Given the description of an element on the screen output the (x, y) to click on. 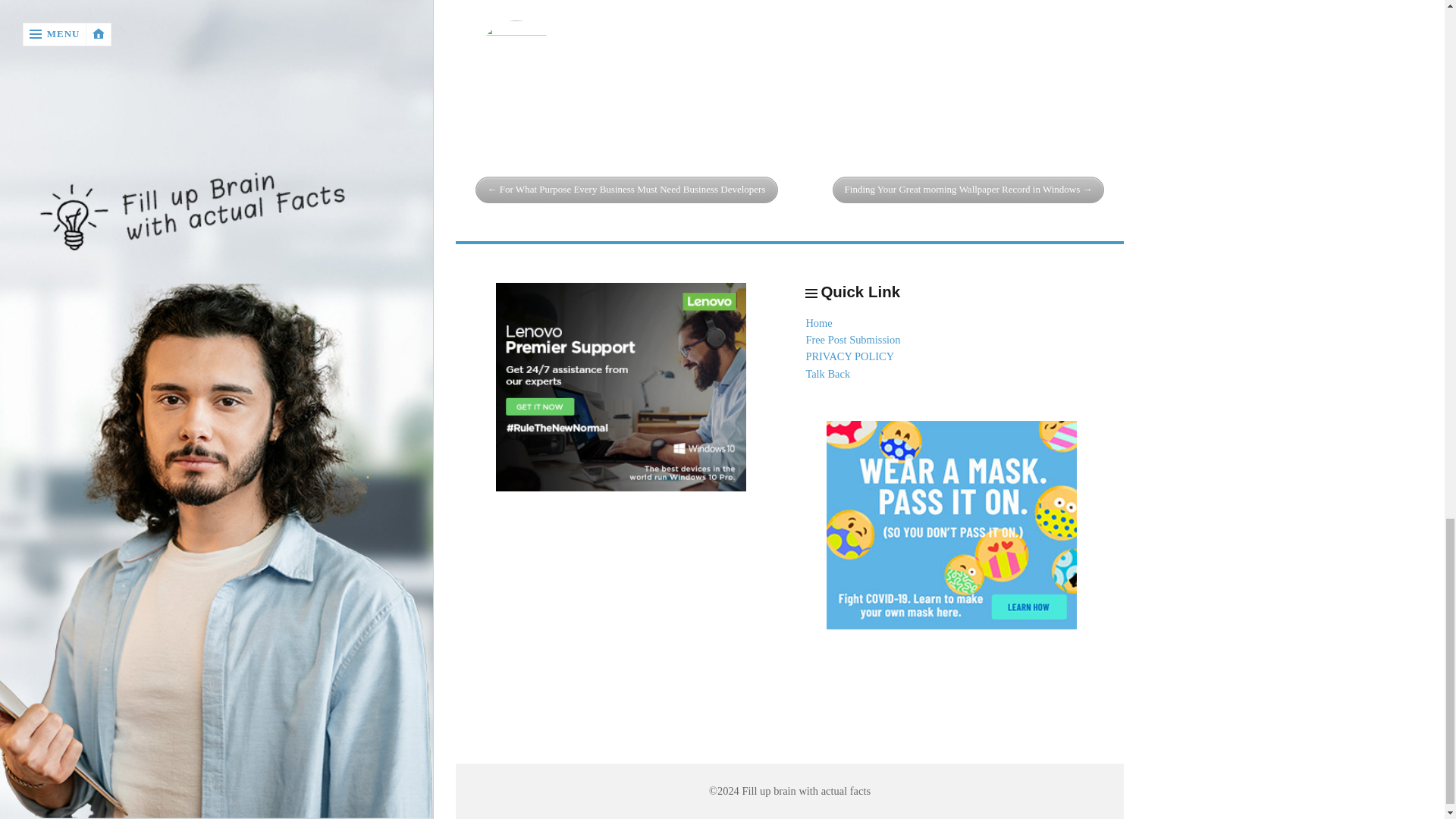
Home (818, 322)
Free Post Submission (852, 339)
Finding Your Great morning Wallpaper Record in Windows (968, 189)
PRIVACY POLICY (849, 356)
Talk Back (827, 373)
